Given the description of an element on the screen output the (x, y) to click on. 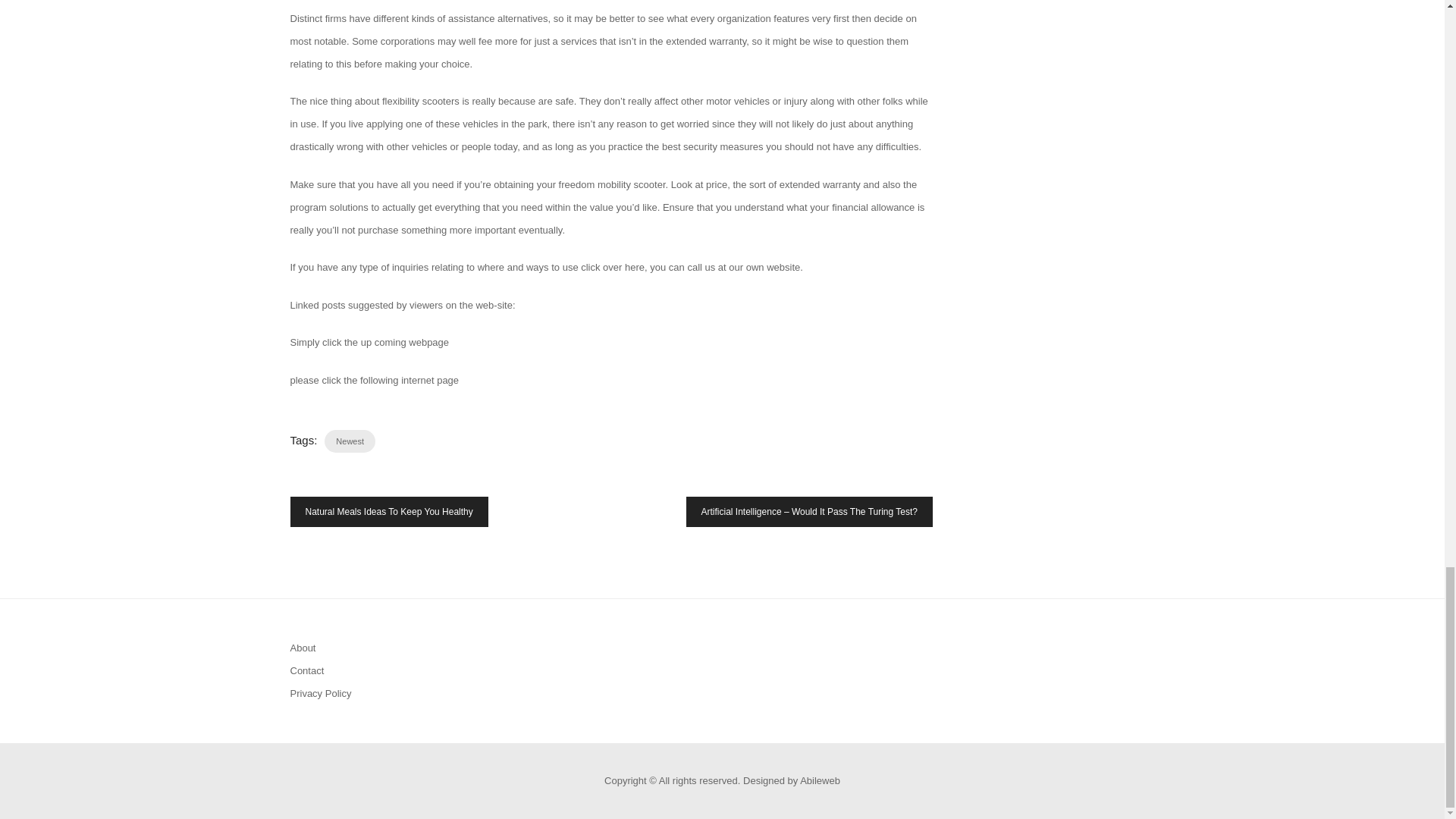
click over here (612, 266)
corporations (407, 41)
Contact (306, 670)
Newest (349, 440)
please click the following internet page (373, 379)
Privacy Policy (319, 693)
Designed by Abileweb (791, 780)
About (302, 647)
Natural Meals Ideas To Keep You Healthy (388, 511)
Simply click the up coming webpage (368, 342)
